Given the description of an element on the screen output the (x, y) to click on. 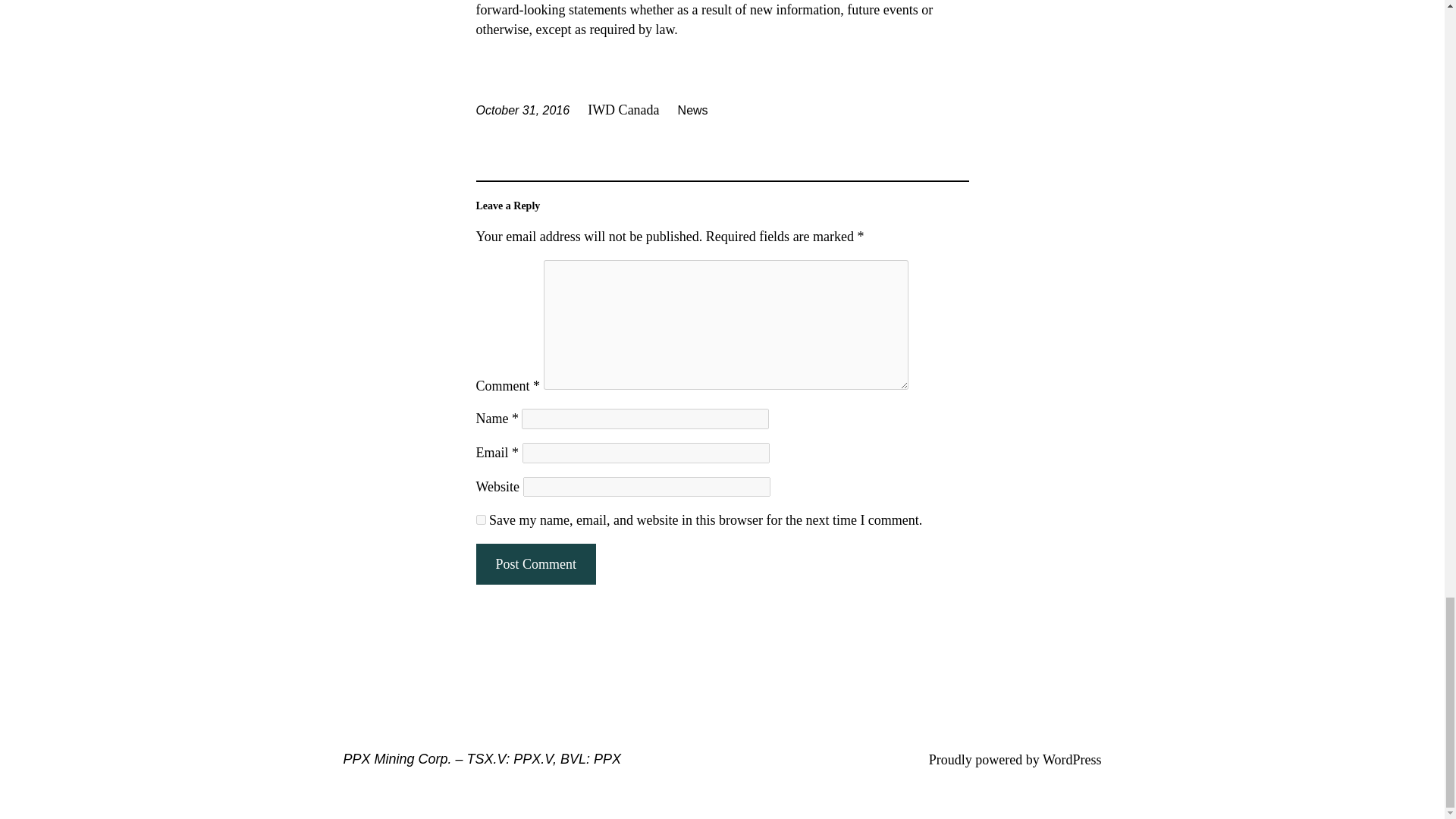
News (692, 110)
Post Comment (535, 563)
WordPress (1072, 759)
yes (481, 519)
Post Comment (535, 563)
